Given the description of an element on the screen output the (x, y) to click on. 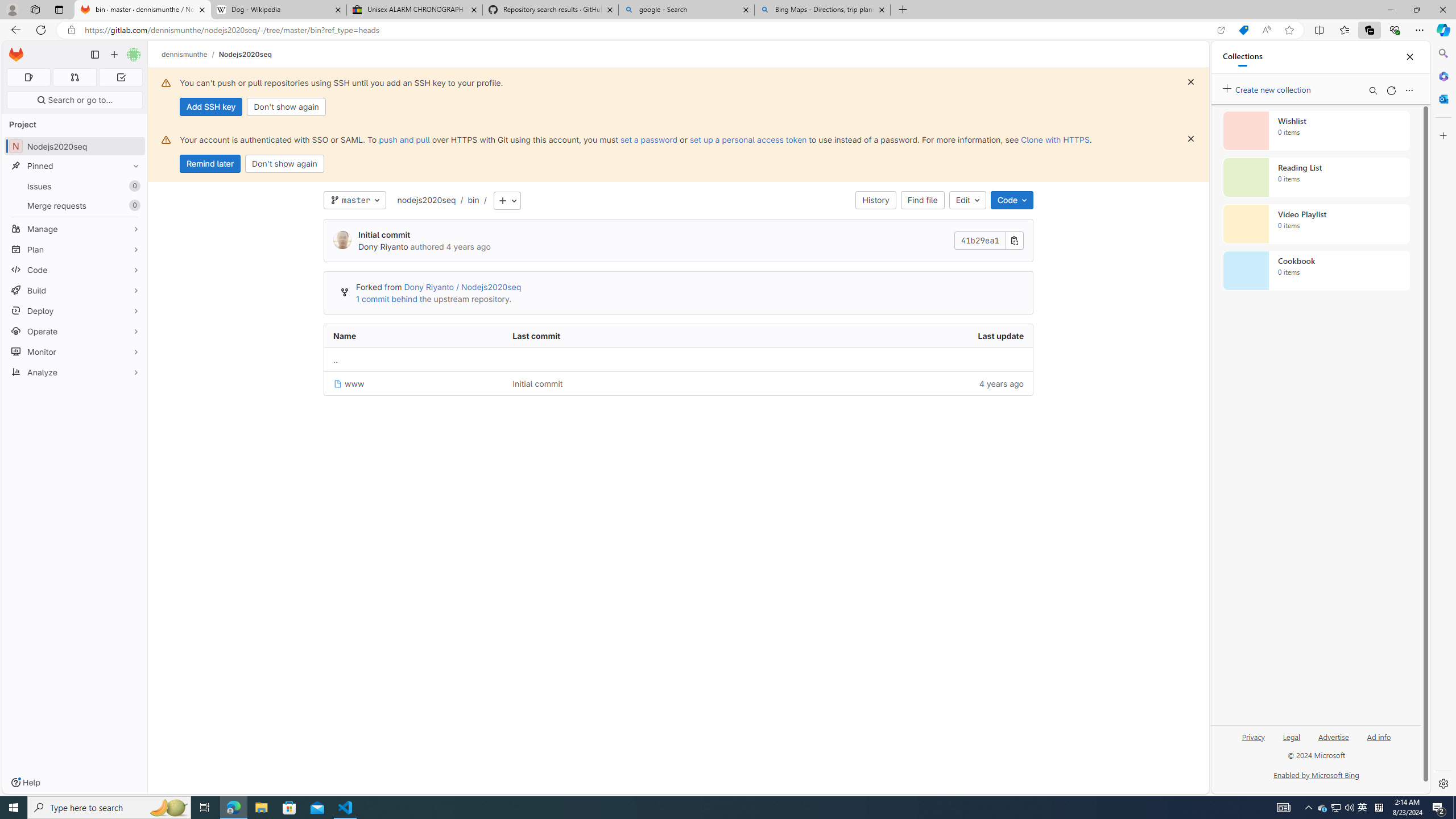
Name (413, 336)
Create new collection (1268, 87)
N Nodejs2020seq (74, 145)
Analyze (74, 371)
nodejs2020seq (426, 200)
History (876, 199)
Go to parent (678, 359)
Code (1011, 199)
Monitor (74, 351)
Initial commit (537, 383)
Code (74, 269)
